Given the description of an element on the screen output the (x, y) to click on. 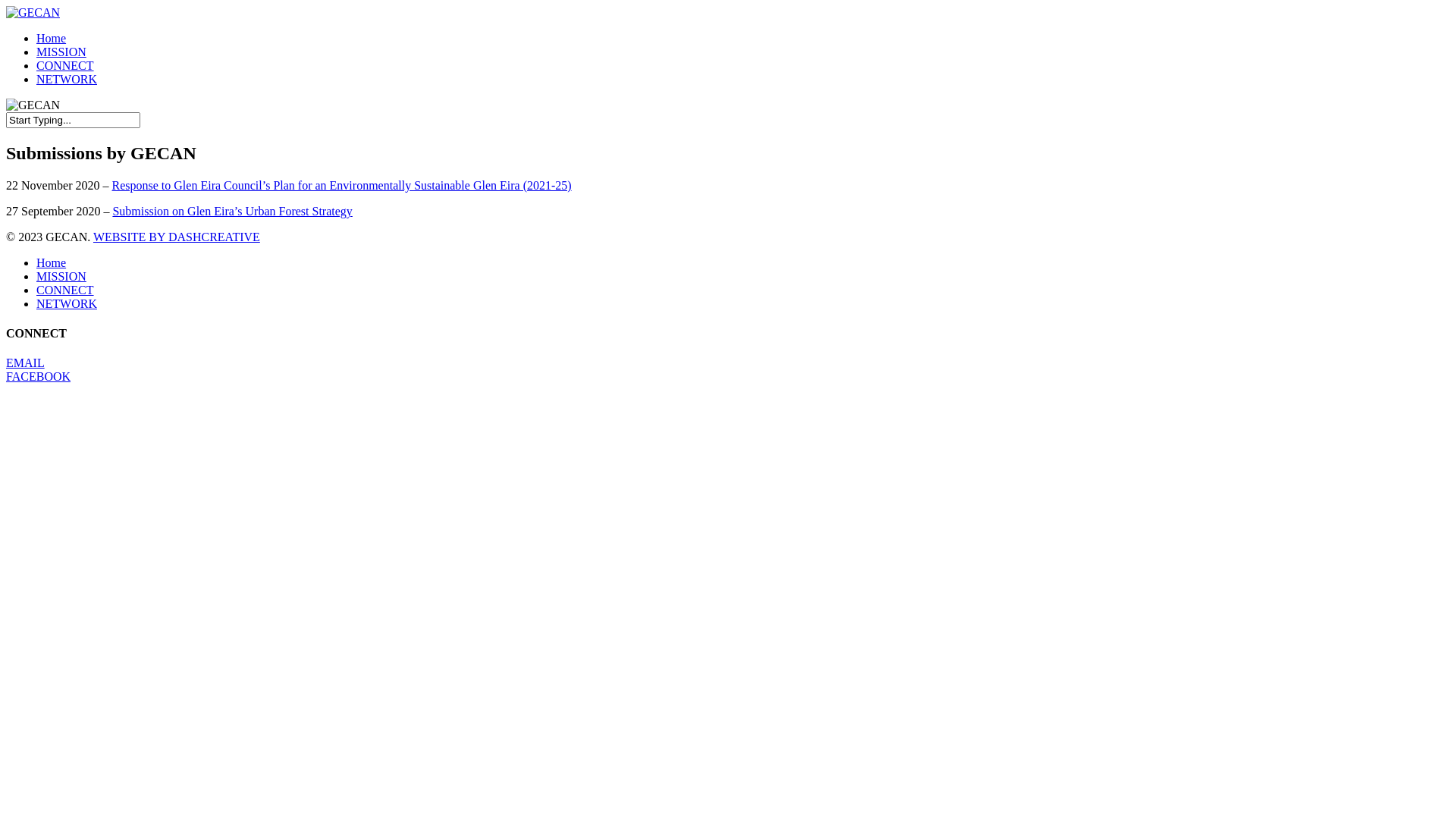
NETWORK Element type: text (66, 303)
MISSION Element type: text (61, 275)
MISSION Element type: text (61, 51)
CONNECT Element type: text (65, 289)
Home Element type: text (50, 262)
CONNECT Element type: text (65, 65)
EMAIL Element type: text (25, 362)
WEBSITE BY DASHCREATIVE Element type: text (176, 236)
FACEBOOK Element type: text (38, 376)
NETWORK Element type: text (66, 78)
Home Element type: text (50, 37)
